Given the description of an element on the screen output the (x, y) to click on. 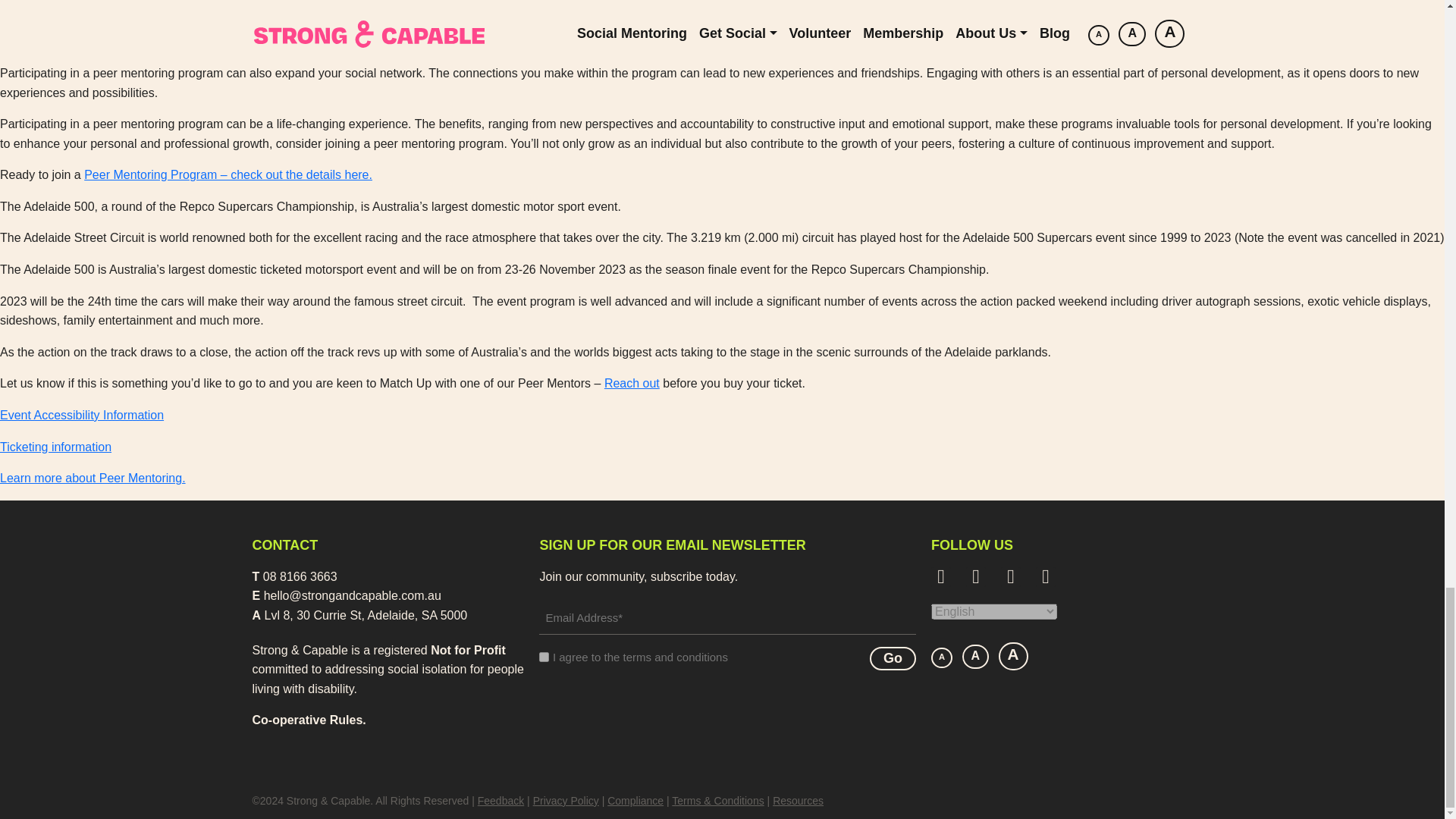
I agree to the terms and conditions (543, 656)
Go (892, 658)
Increase font size (1012, 656)
Decrease font size (941, 657)
Reset font size (976, 656)
